Given the description of an element on the screen output the (x, y) to click on. 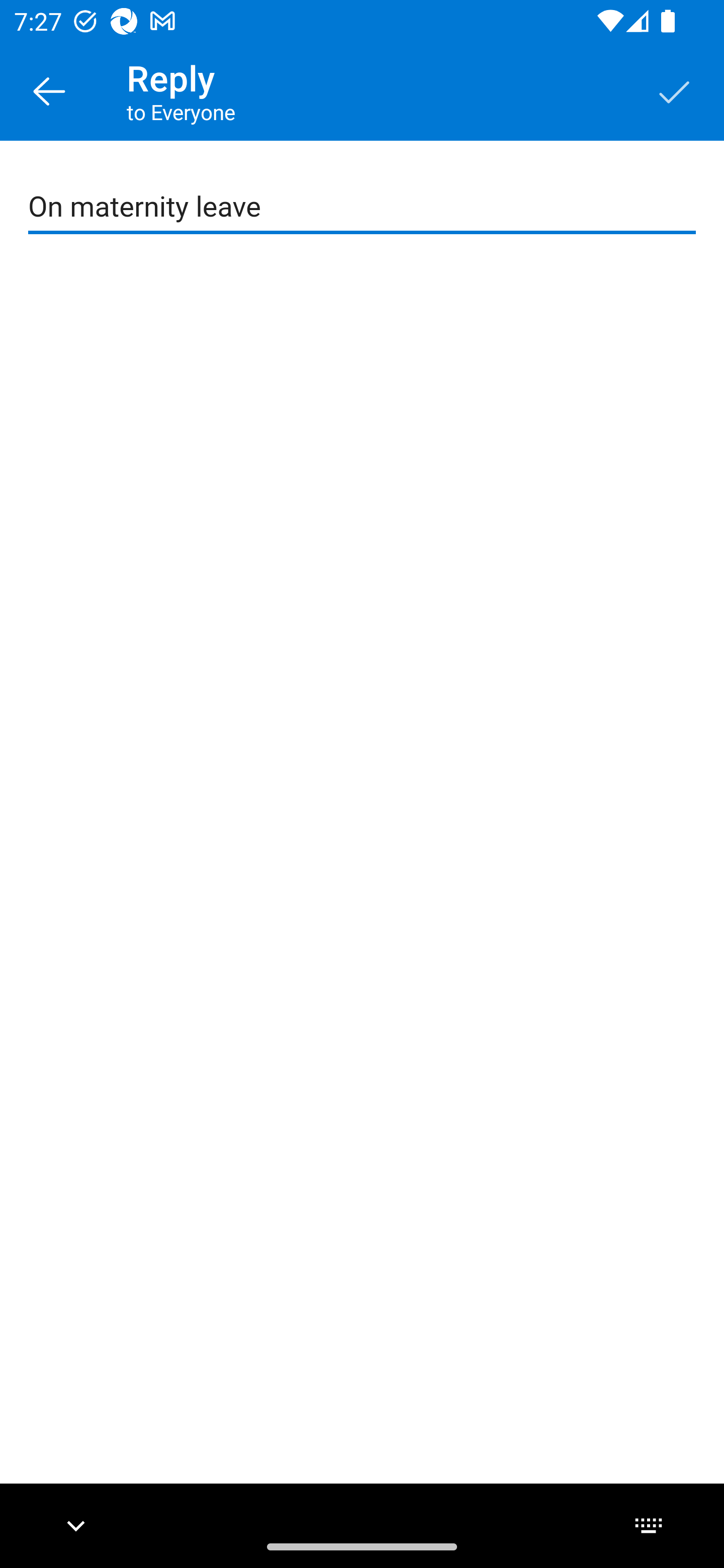
Back (49, 90)
Save (674, 90)
On maternity leave (363, 206)
